Given the description of an element on the screen output the (x, y) to click on. 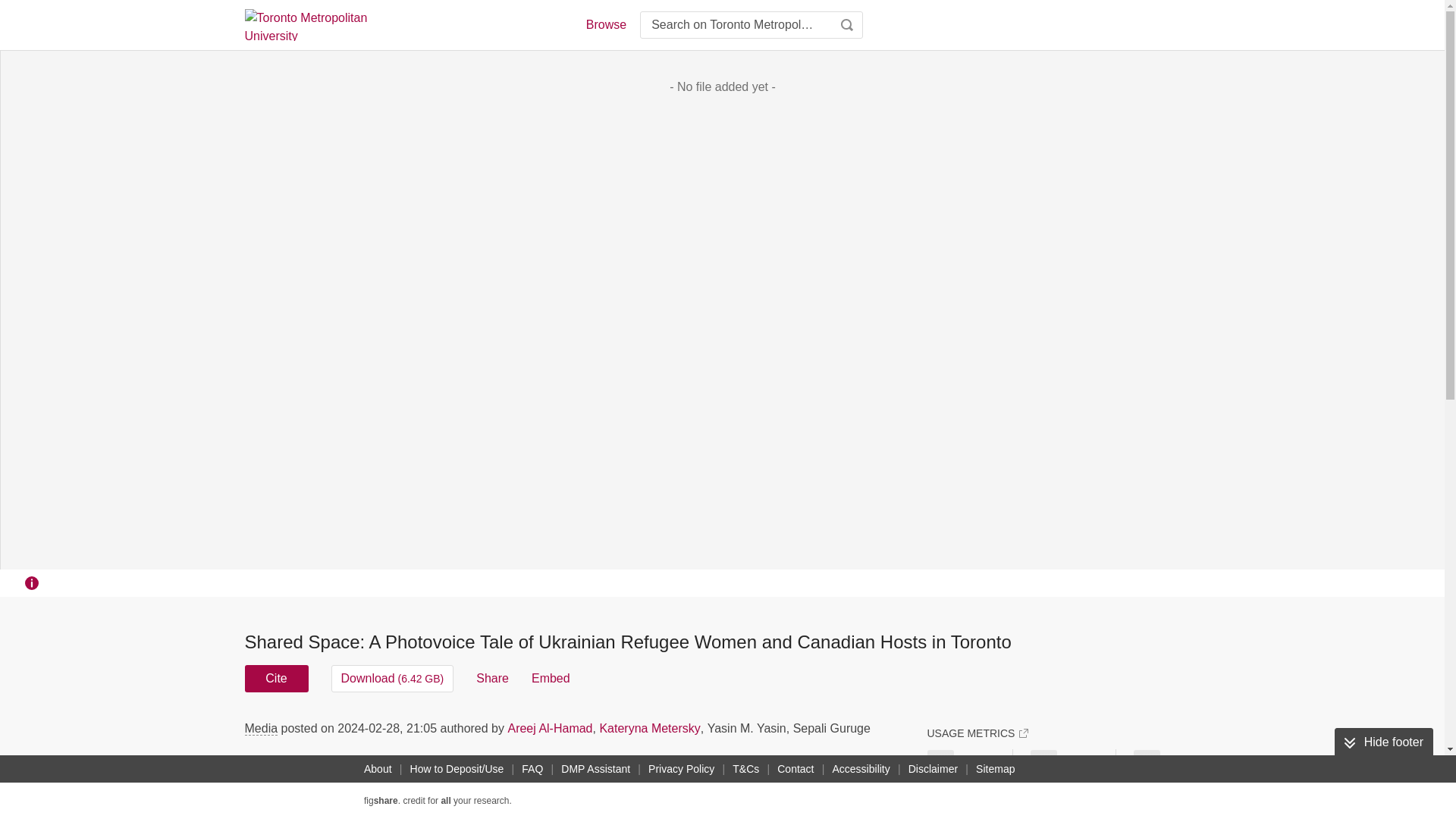
Browse (605, 24)
USAGE METRICS (976, 732)
Hide footer (1383, 742)
Cite (275, 678)
About (377, 769)
Kateryna Metersky (649, 727)
Share (492, 678)
Embed (550, 678)
Privacy Policy (681, 769)
Areej Al-Hamad (549, 727)
